Given the description of an element on the screen output the (x, y) to click on. 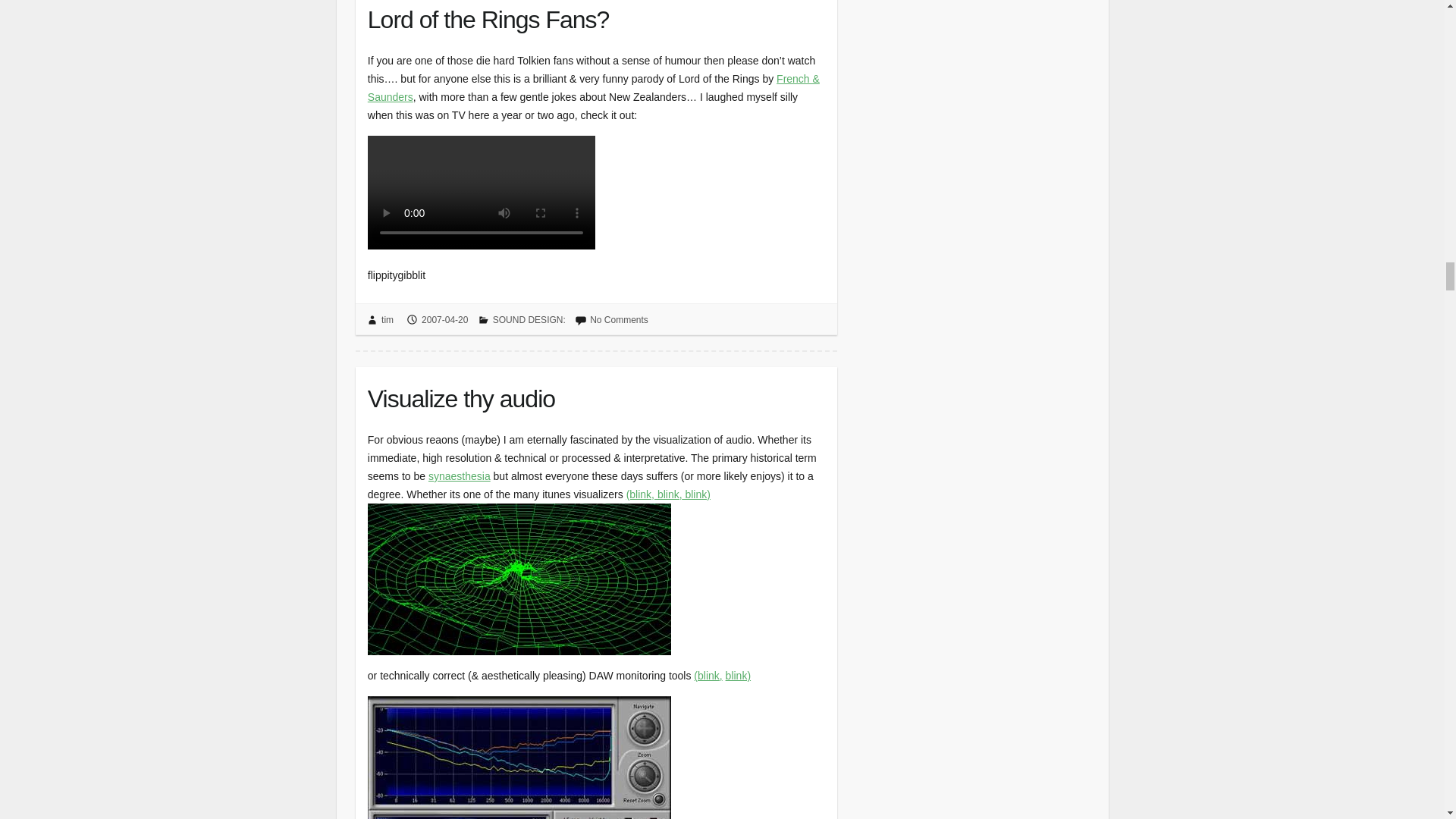
Visualize thy audio (596, 395)
Lord of the Rings Fans? (596, 18)
